Given the description of an element on the screen output the (x, y) to click on. 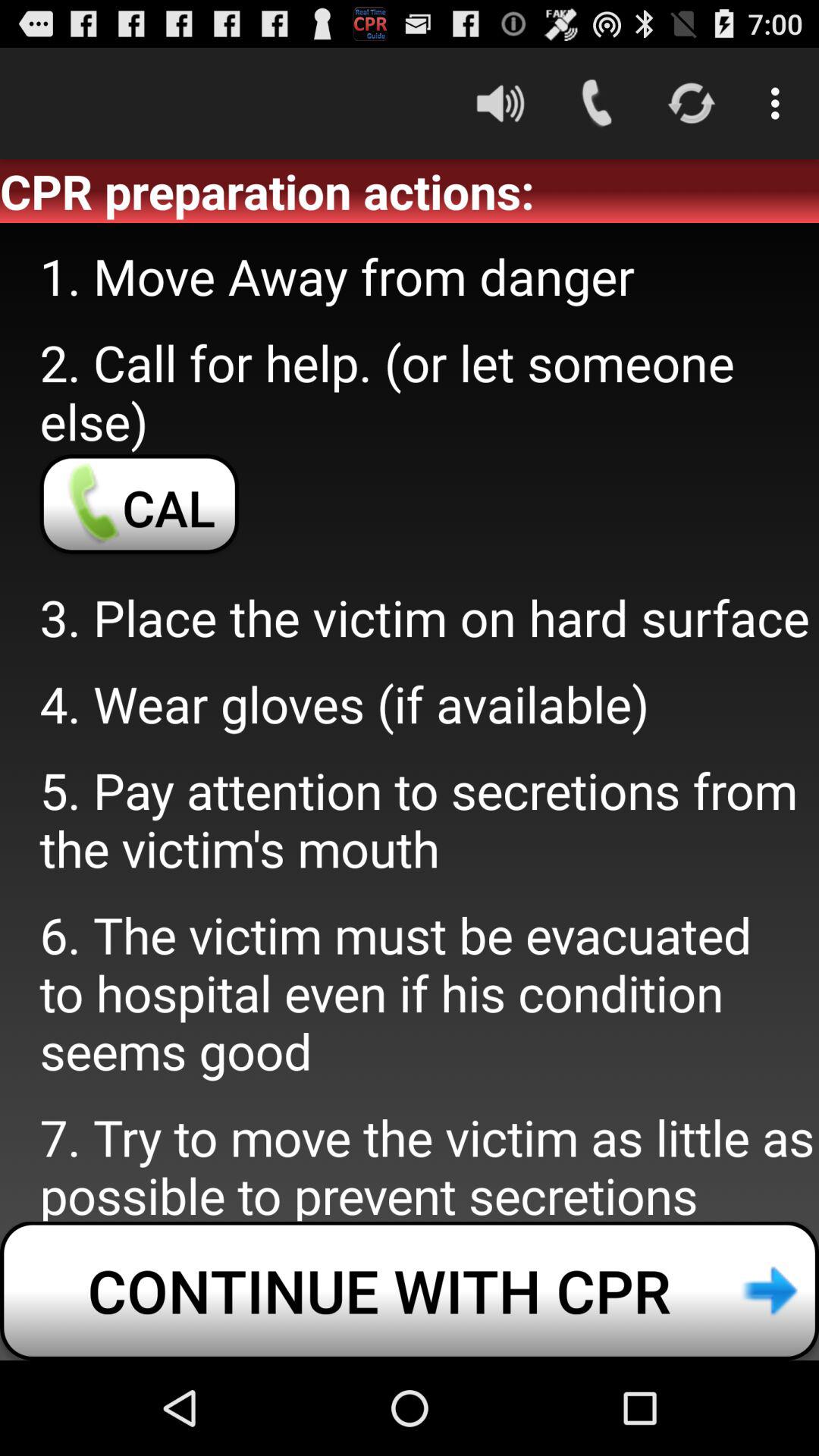
click the item above cpr preparation actions: app (500, 103)
